Given the description of an element on the screen output the (x, y) to click on. 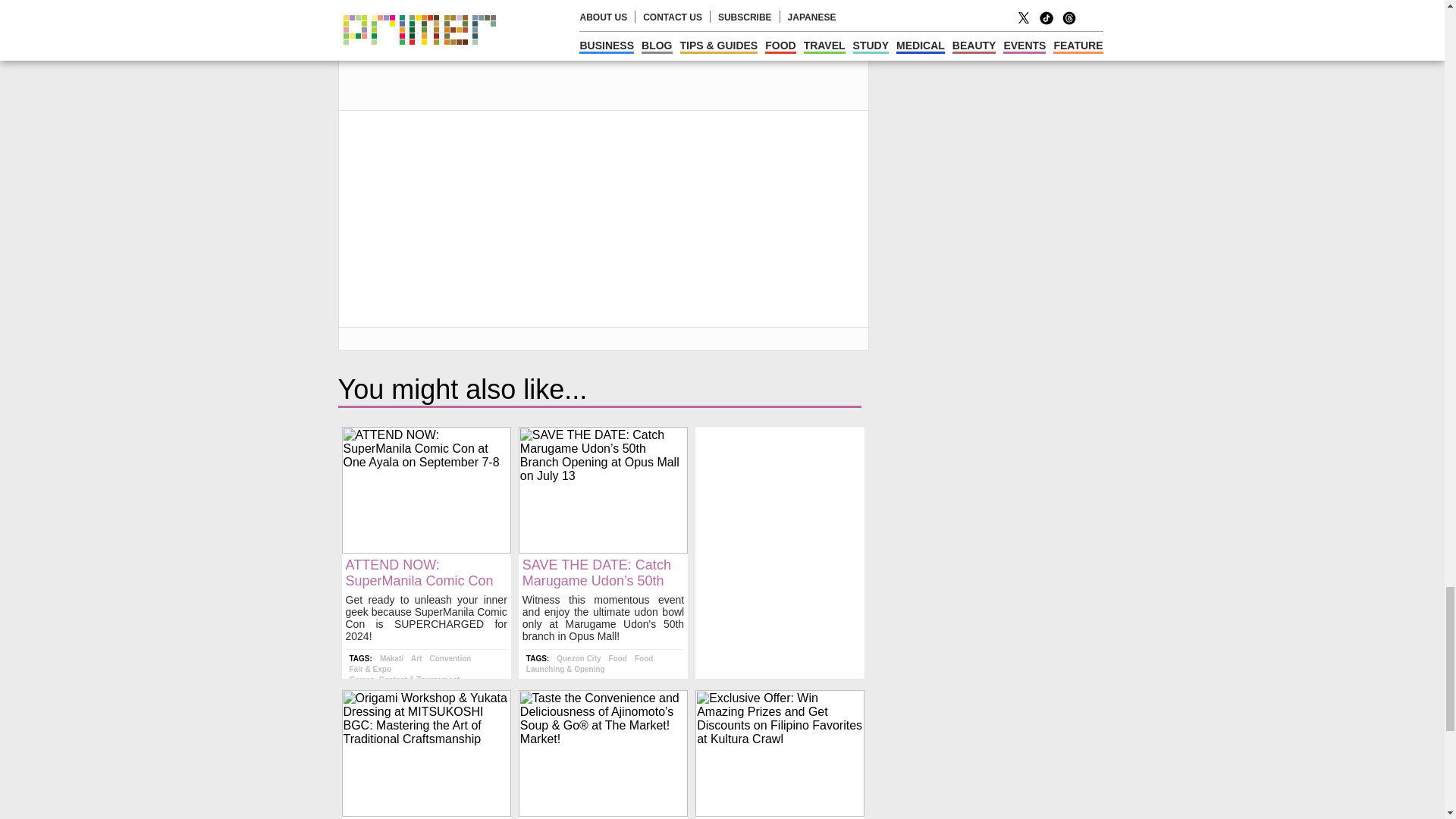
Convention (449, 658)
Makati (391, 658)
Art (416, 658)
